Given the description of an element on the screen output the (x, y) to click on. 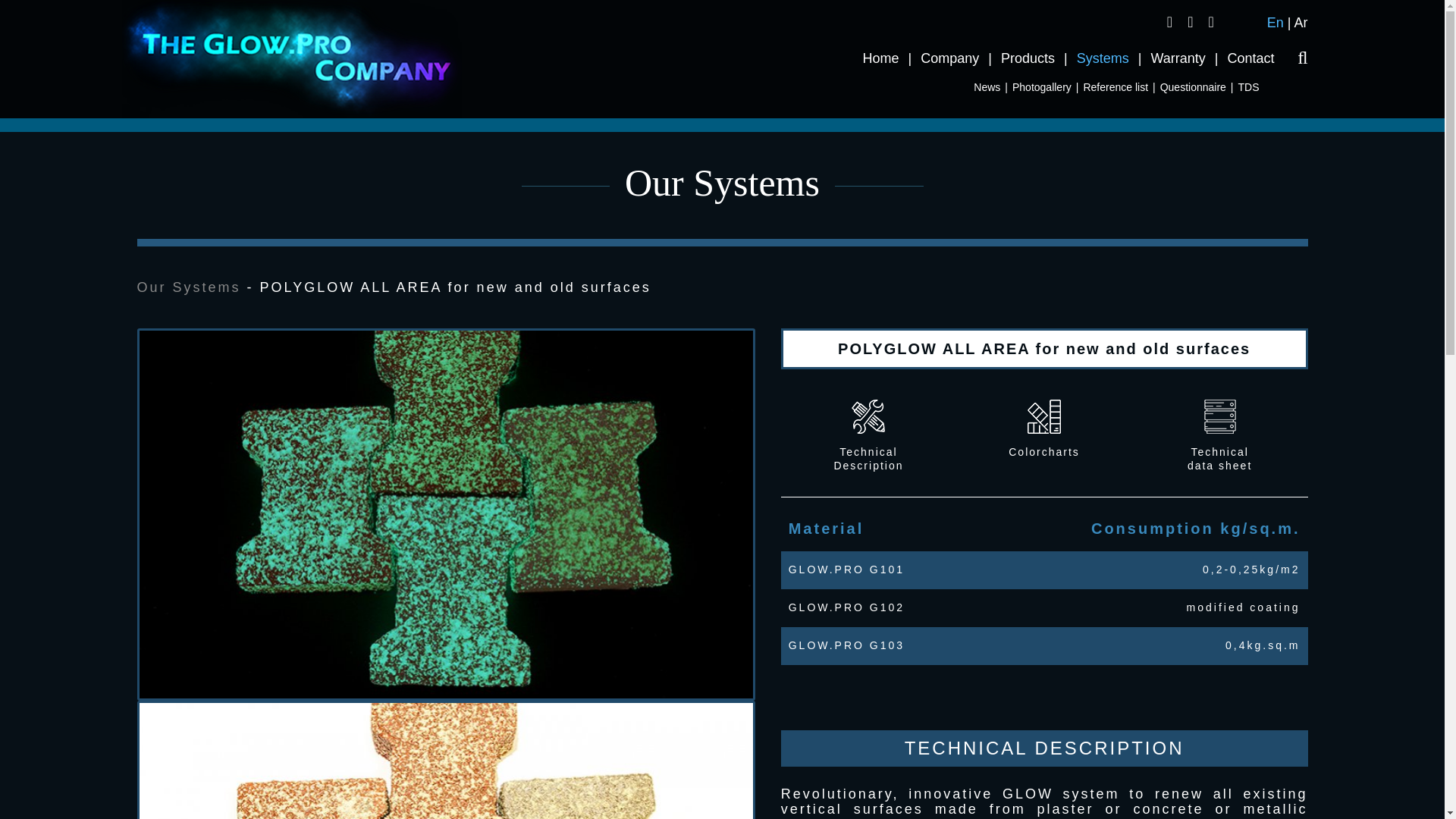
News (987, 87)
Photogallery (1041, 87)
Systems (1103, 58)
Reference list (1115, 87)
Company (949, 58)
Systems (1103, 58)
Contact (1250, 58)
Colorcharts (1044, 428)
TDS (1255, 87)
Warranty (1177, 58)
Reference list (1115, 87)
Contact (1250, 58)
Our Systems (188, 287)
Products (1027, 58)
